Given the description of an element on the screen output the (x, y) to click on. 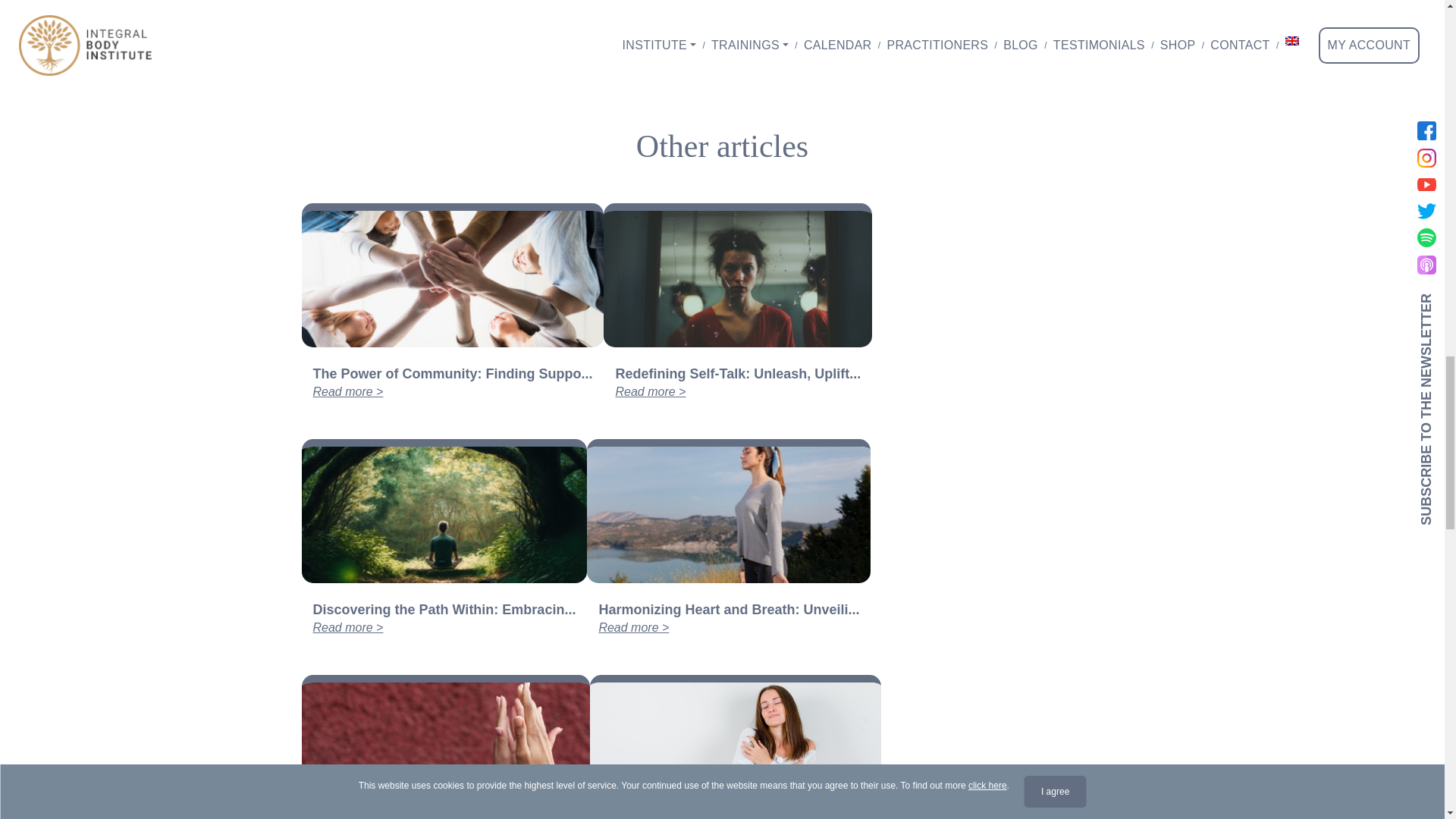
The Power of Community: Finding Suppo... (452, 382)
Redefining Self-Talk: Unleash, Uplift... (737, 382)
Discovering the Path Within: Embracin... (444, 617)
Harmonizing Heart and Breath: Unveili... (728, 617)
